Given the description of an element on the screen output the (x, y) to click on. 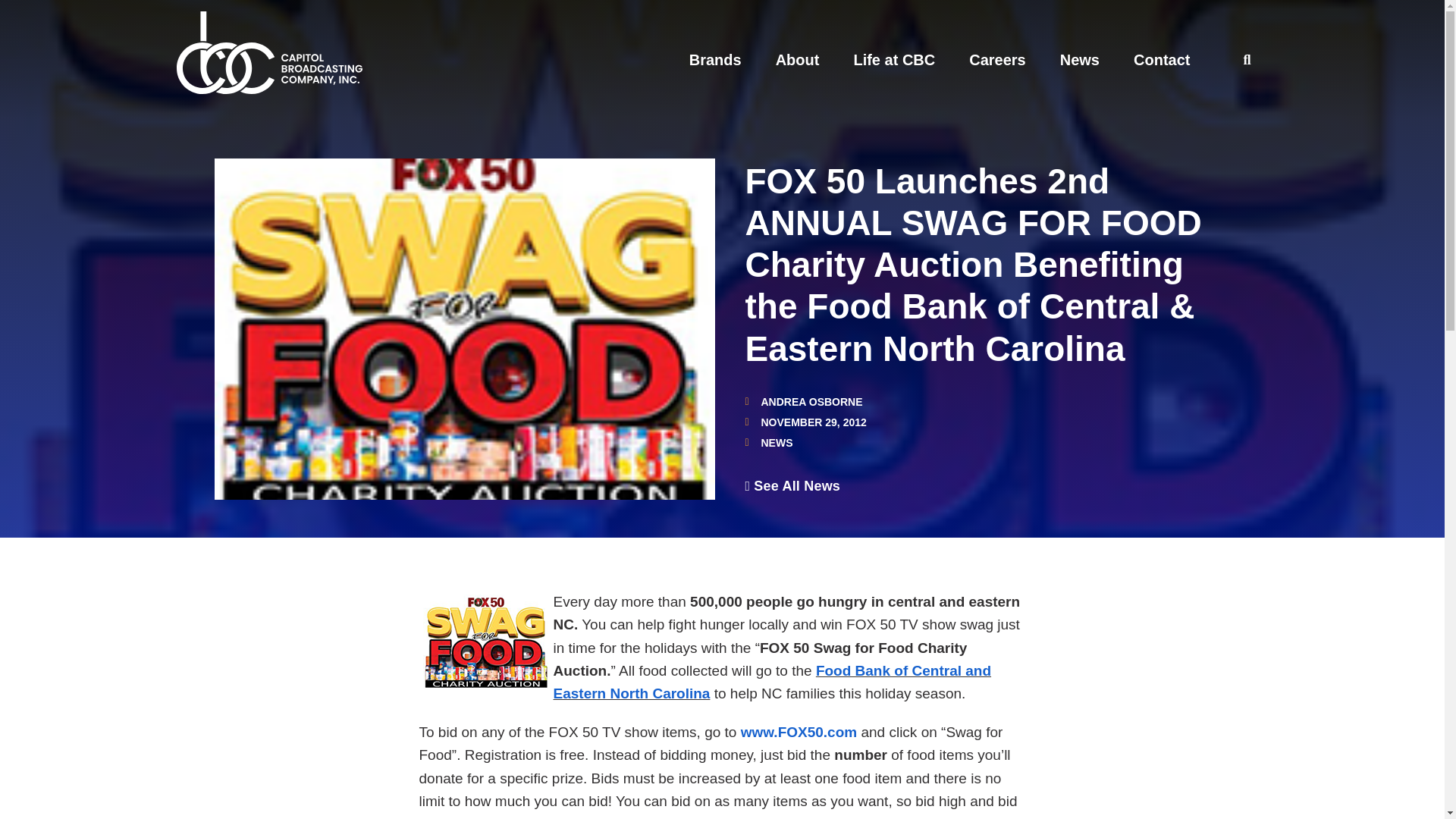
About (797, 59)
Life at CBC (893, 59)
Food Bank of Central and Eastern North Carolina (772, 681)
Careers (997, 59)
Brands (714, 59)
ANDREA OSBORNE (802, 401)
NOVEMBER 29, 2012 (805, 421)
www.FOX50.com (799, 731)
News (1079, 59)
See All News (792, 486)
